Given the description of an element on the screen output the (x, y) to click on. 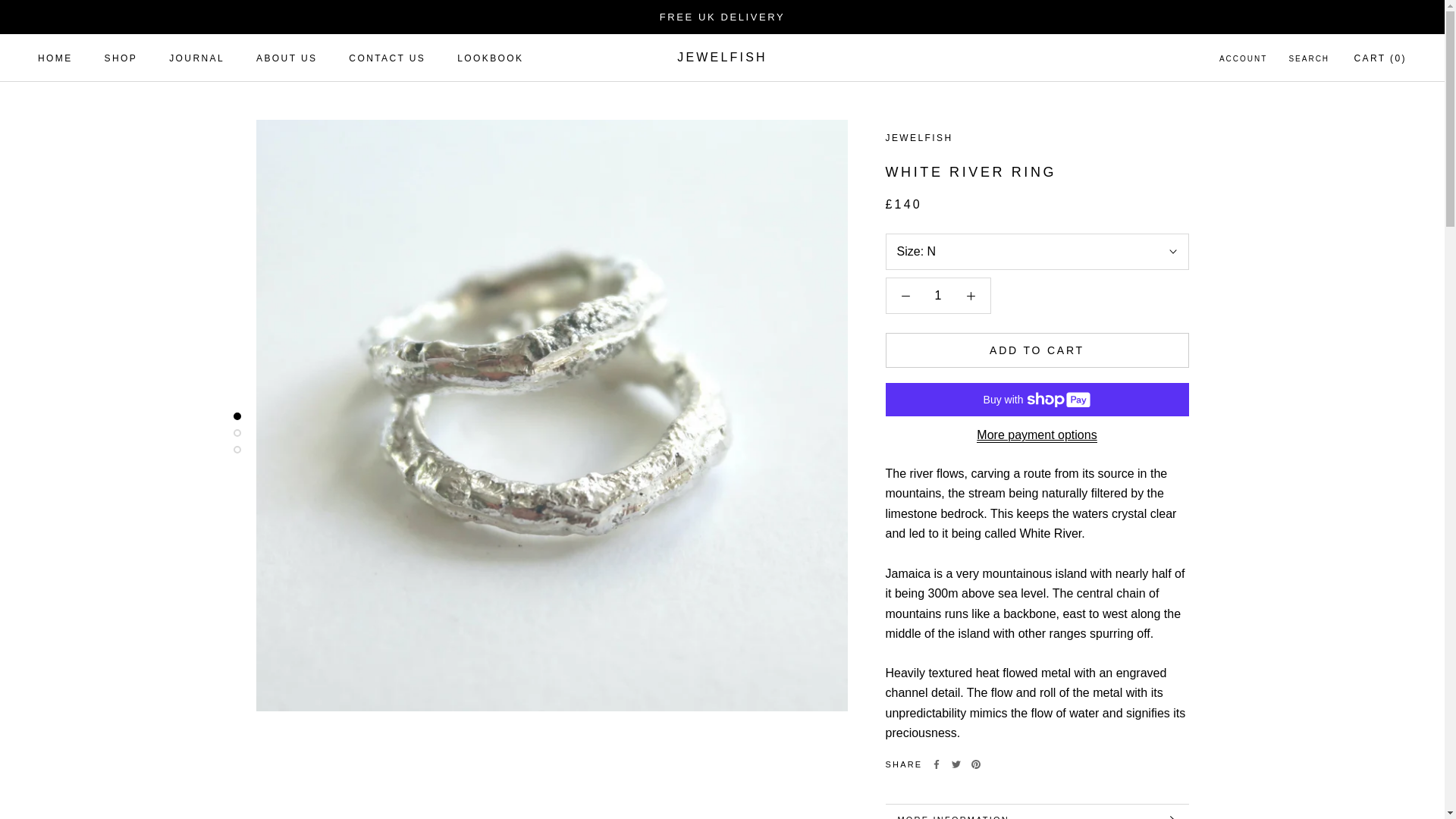
JEWELFISH (54, 58)
FREE UK DELIVERY (387, 58)
1 (722, 57)
